Given the description of an element on the screen output the (x, y) to click on. 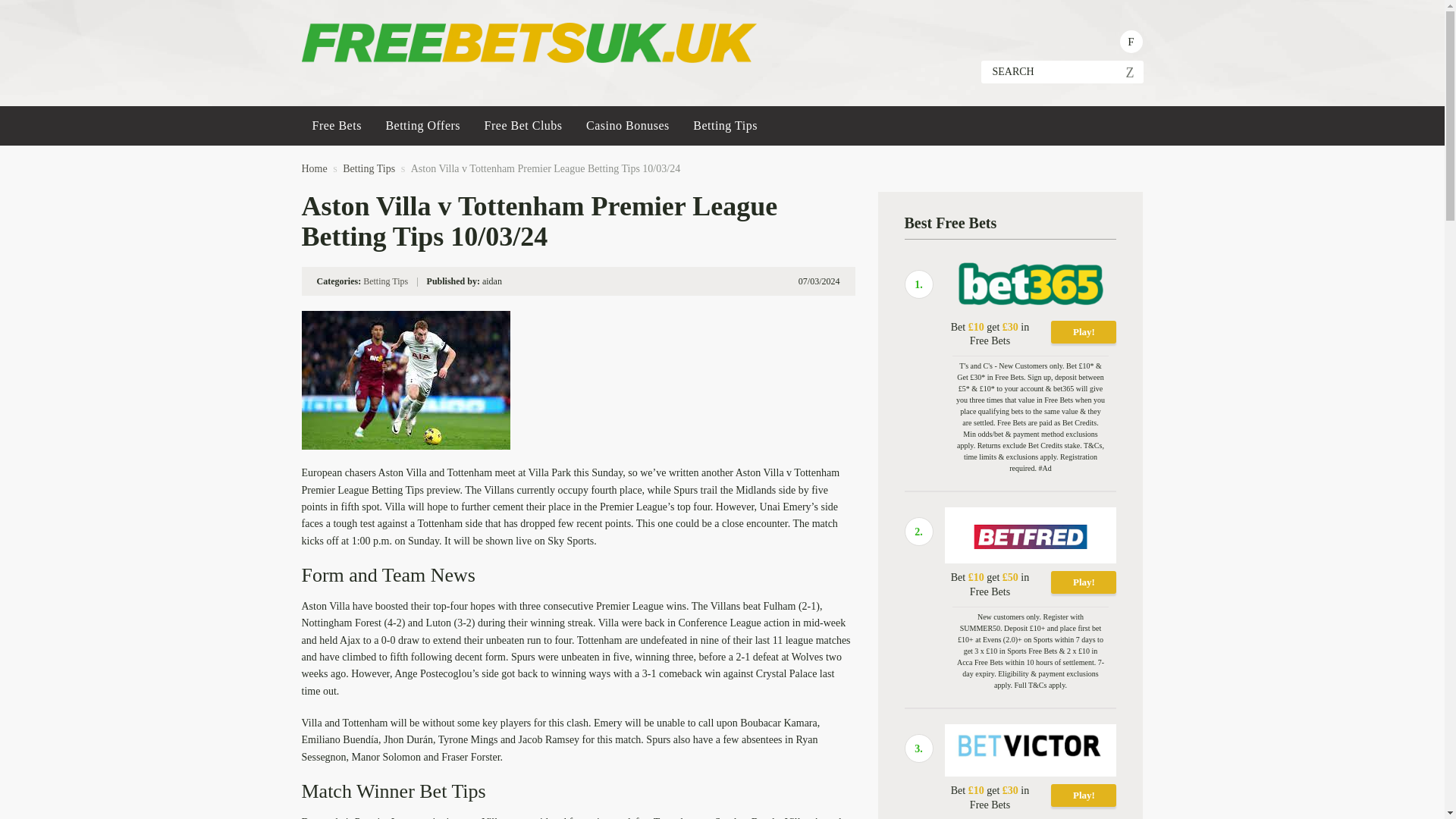
Home (314, 168)
Free Bet Clubs (523, 125)
Home (314, 168)
Betting Tips (725, 125)
Betting Offers (422, 125)
Betting Tips (368, 168)
Casino Bonuses (627, 125)
Play! (1083, 581)
Free Bets (337, 125)
Betting Tips (368, 168)
Play! (1083, 794)
Betting Tips (384, 281)
Play! (1083, 332)
